Given the description of an element on the screen output the (x, y) to click on. 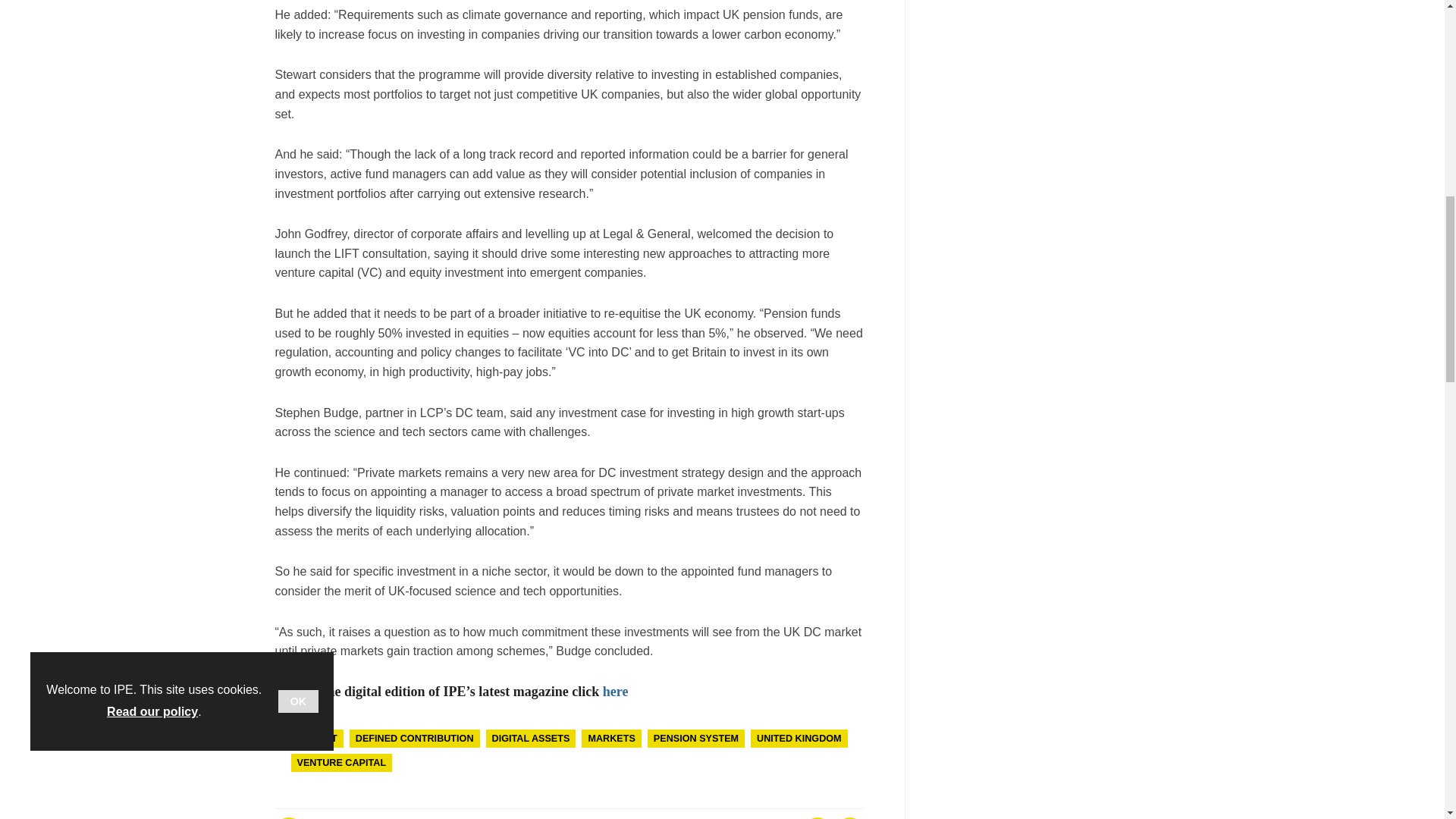
Email this article (288, 817)
